Given the description of an element on the screen output the (x, y) to click on. 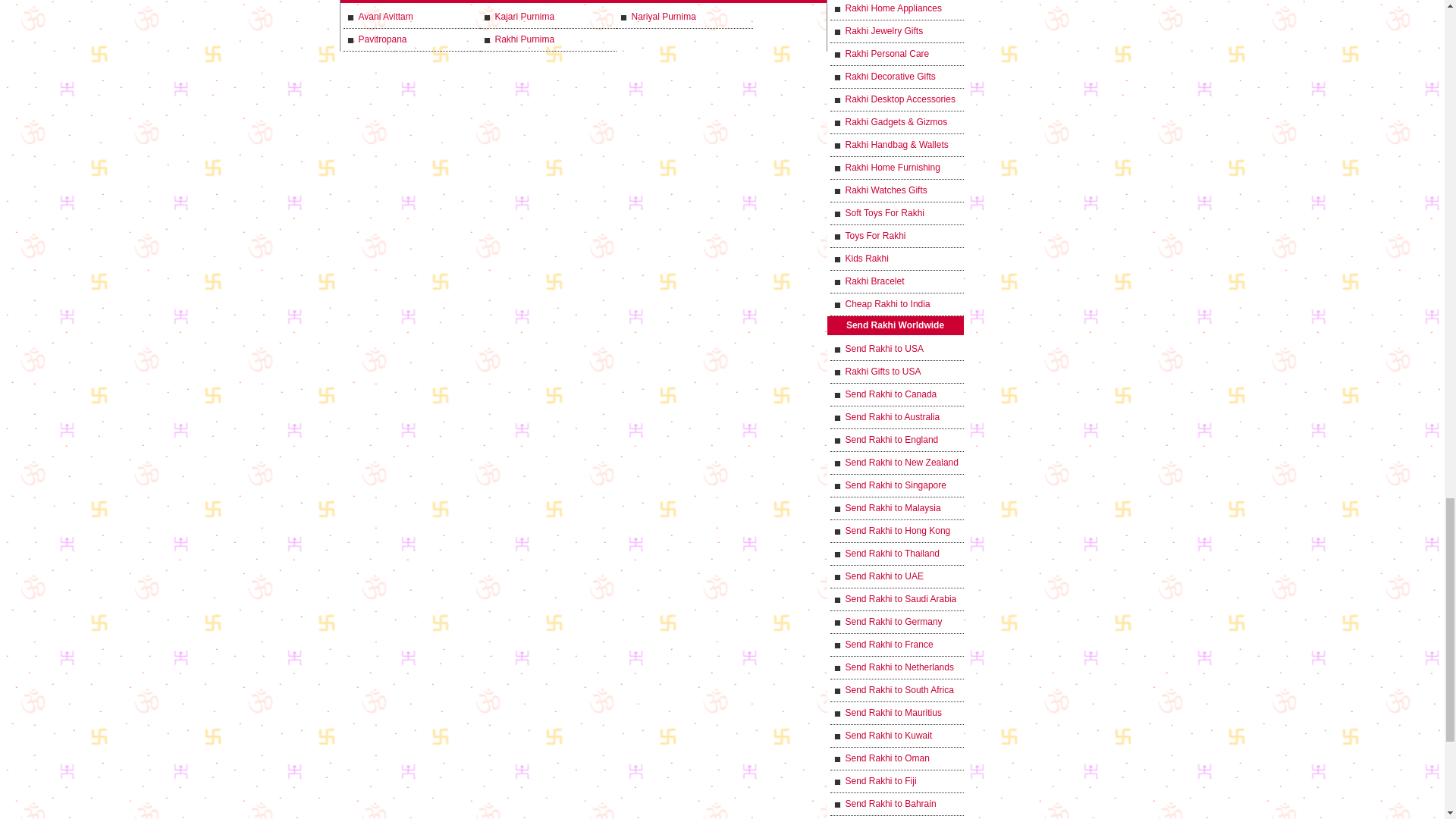
Kajari Purnima (547, 16)
Nariyal Purnima (683, 16)
Rakhi Purnima (547, 39)
Avani Avittam (410, 16)
Pavitropana (410, 39)
